Given the description of an element on the screen output the (x, y) to click on. 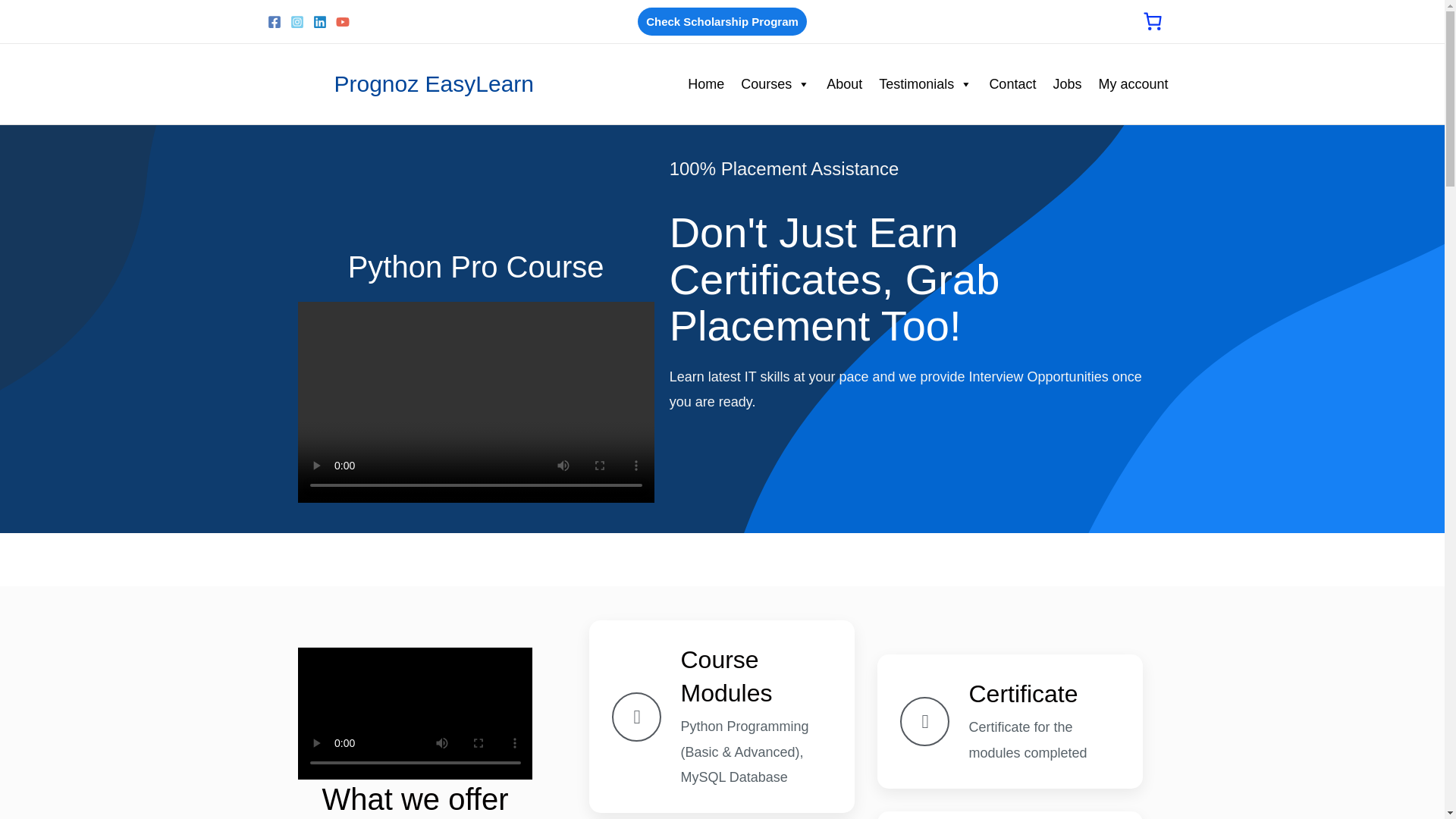
Jobs (1067, 83)
About (843, 83)
Prognoz EasyLearn (433, 83)
Contact (1012, 83)
Courses (774, 83)
Testimonials (924, 83)
My account (1132, 83)
Check Scholarship Program (721, 21)
Home (705, 83)
